Given the description of an element on the screen output the (x, y) to click on. 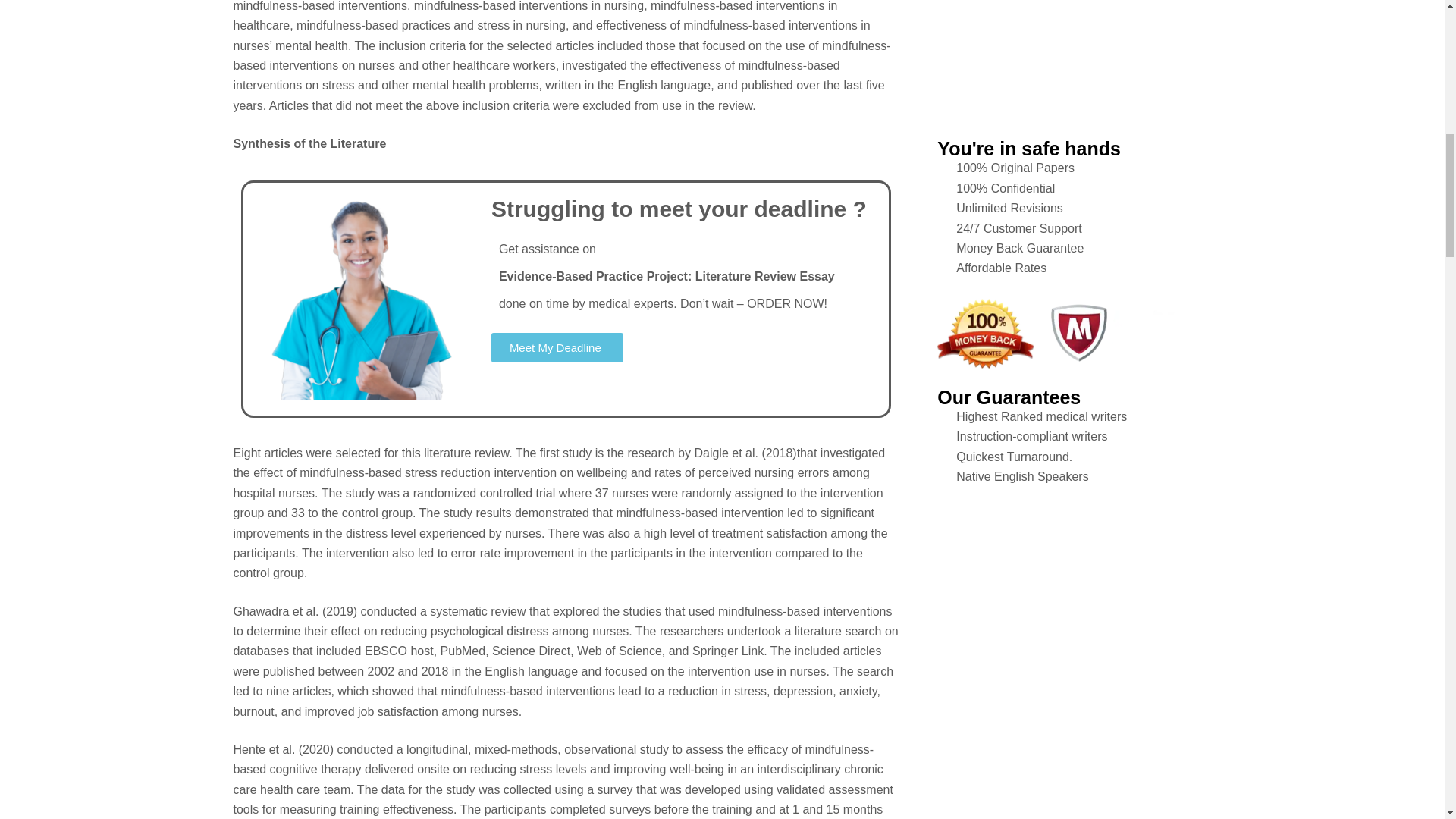
Meet My Deadline (557, 347)
